Given the description of an element on the screen output the (x, y) to click on. 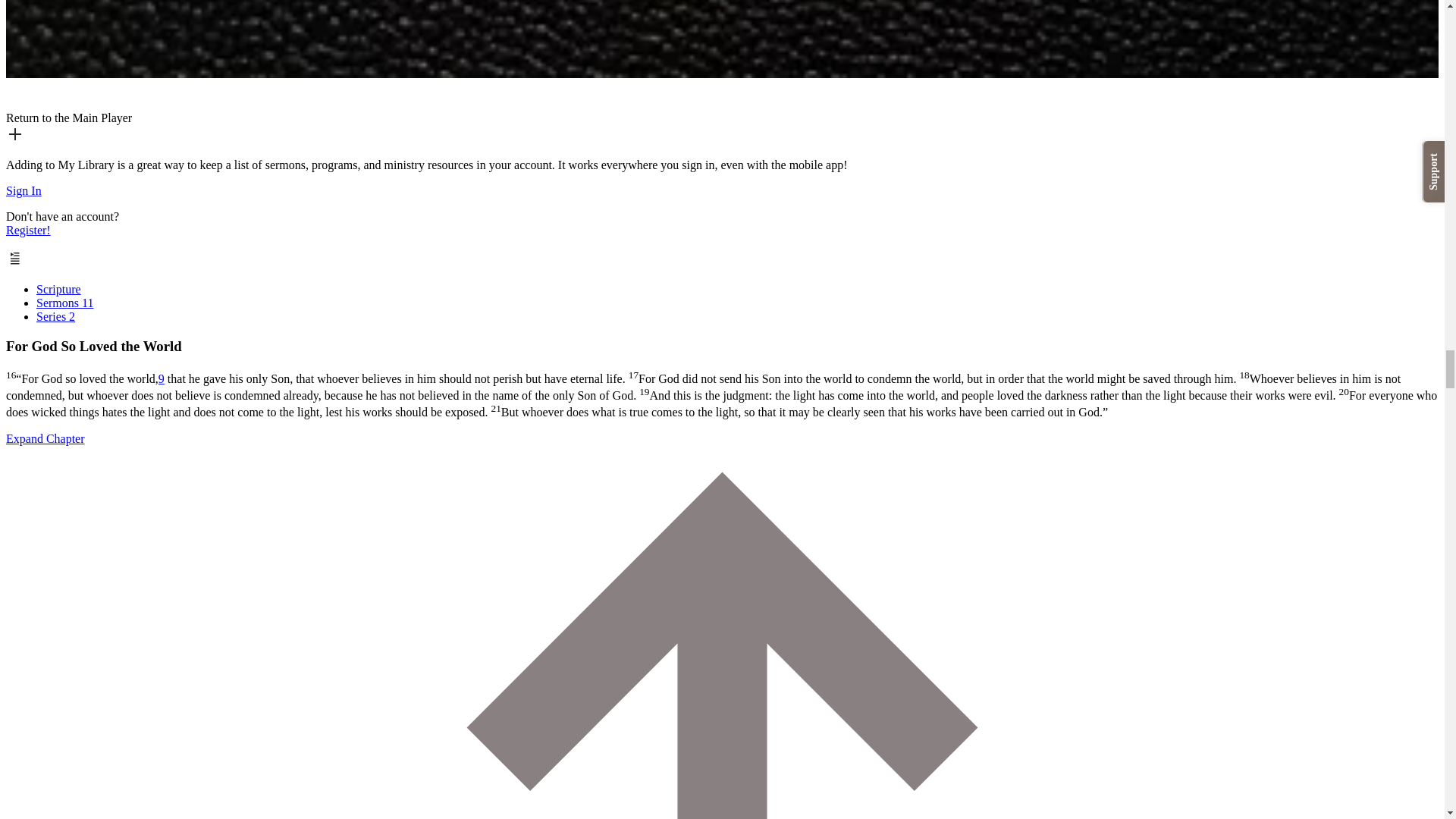
Add to My Library (14, 138)
Listen Queue (14, 263)
